Given the description of an element on the screen output the (x, y) to click on. 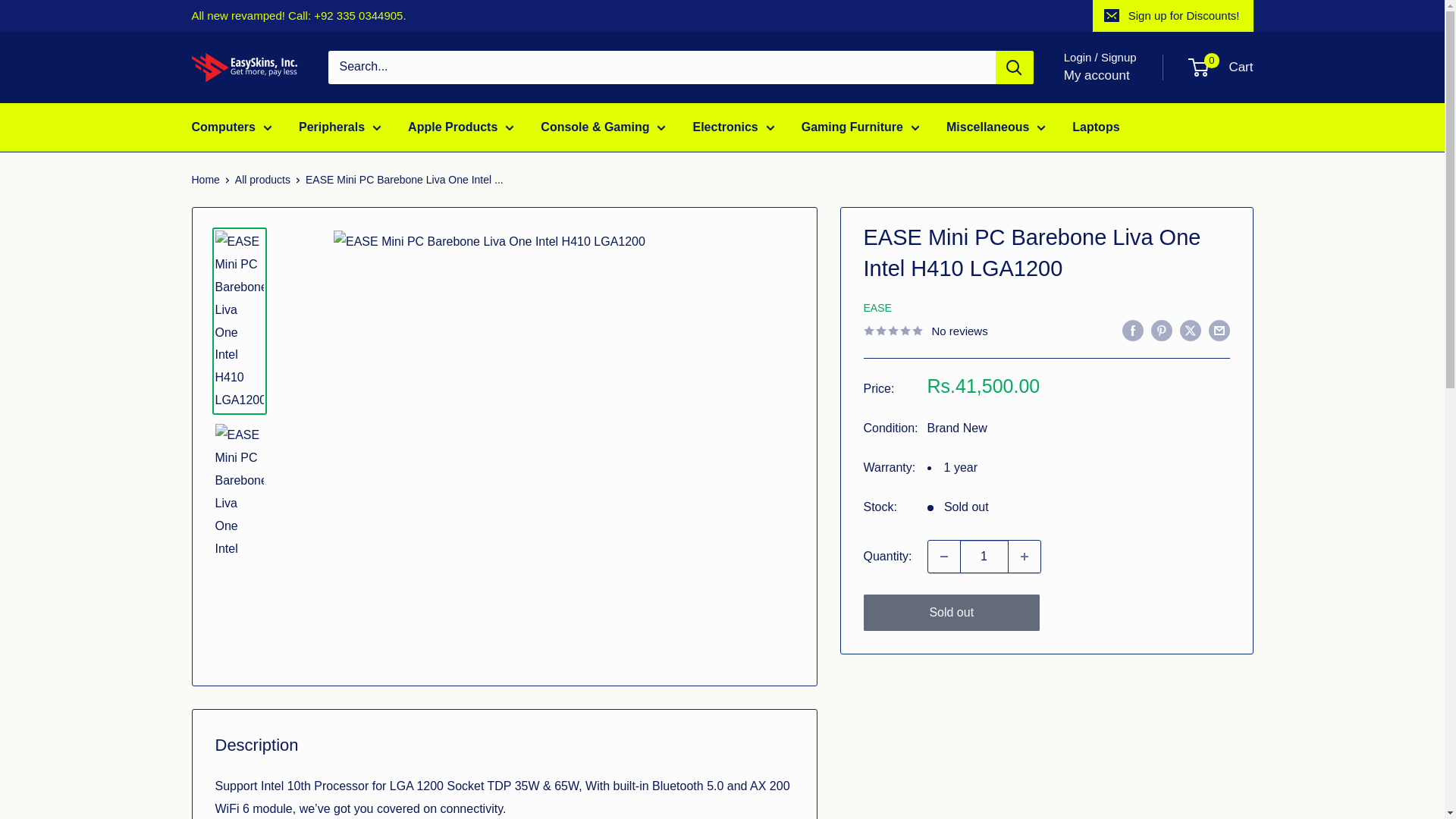
1 (984, 556)
Increase quantity by 1 (1025, 556)
Decrease quantity by 1 (943, 556)
Sign up for Discounts! (1173, 15)
